Given the description of an element on the screen output the (x, y) to click on. 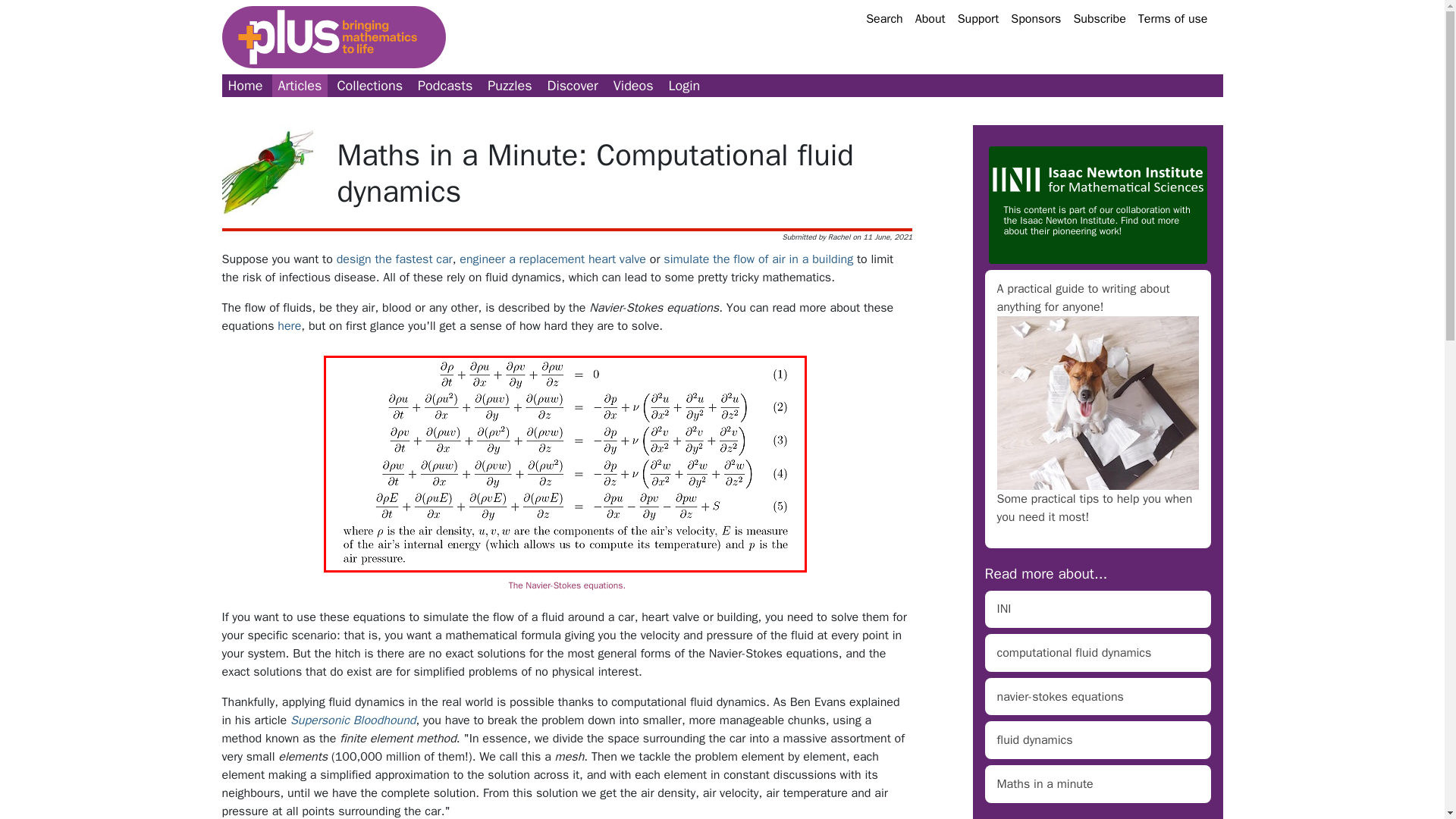
news features columns and opinions (300, 85)
Puzzles (509, 85)
engineer a replacement heart valve (553, 258)
Friday, June 11, 2021 - 11:56 (887, 236)
Book film and other reviews (572, 85)
Supersonic Bloodhound (351, 720)
here (289, 325)
Podcasts (445, 85)
Packages (369, 85)
Subscribe (1099, 18)
